Given the description of an element on the screen output the (x, y) to click on. 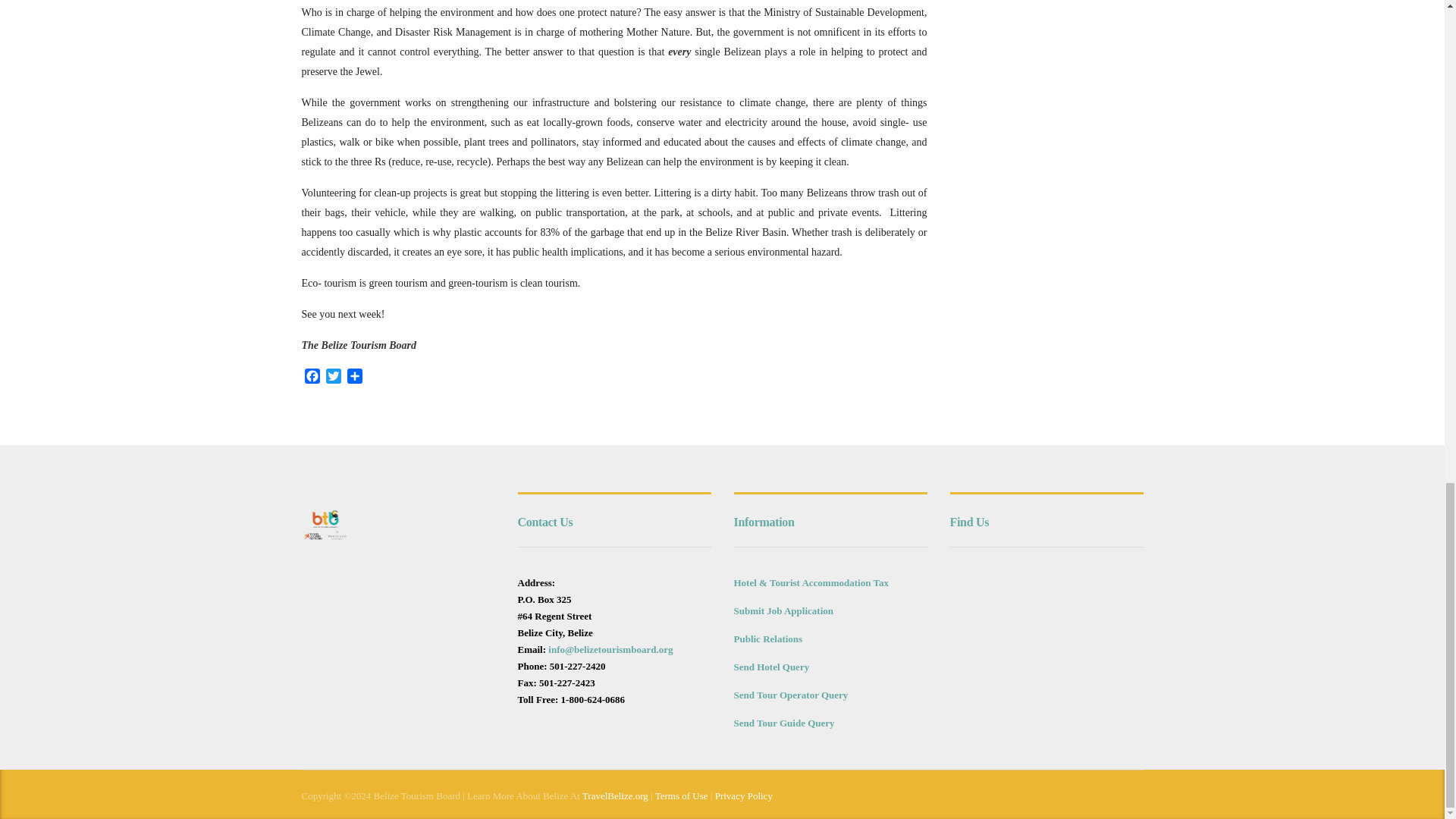
Twitter (333, 377)
Facebook (312, 377)
